Given the description of an element on the screen output the (x, y) to click on. 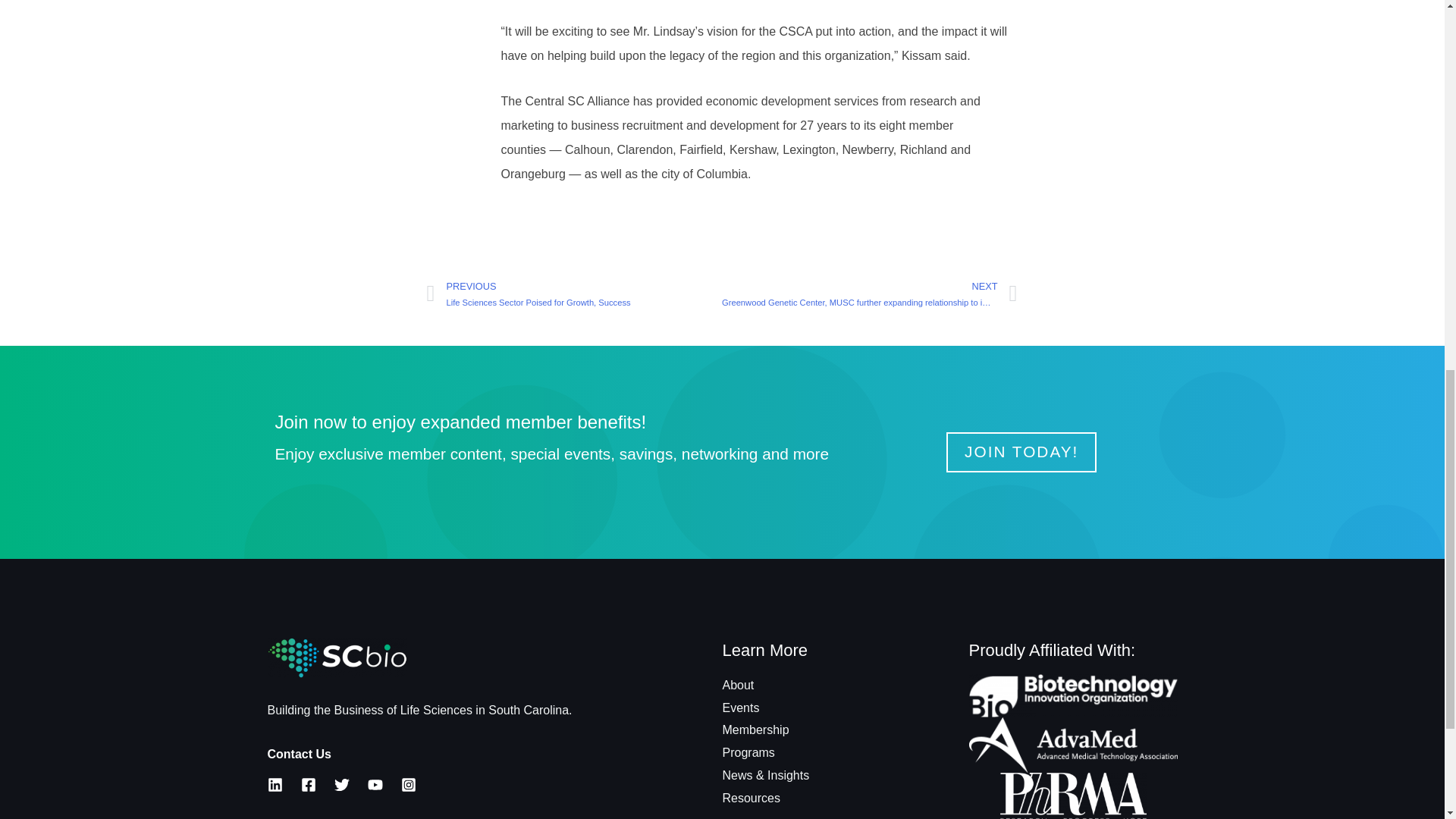
Save with SCbio (1073, 694)
PhRMA (1073, 796)
AdvaMed (1073, 759)
